Given the description of an element on the screen output the (x, y) to click on. 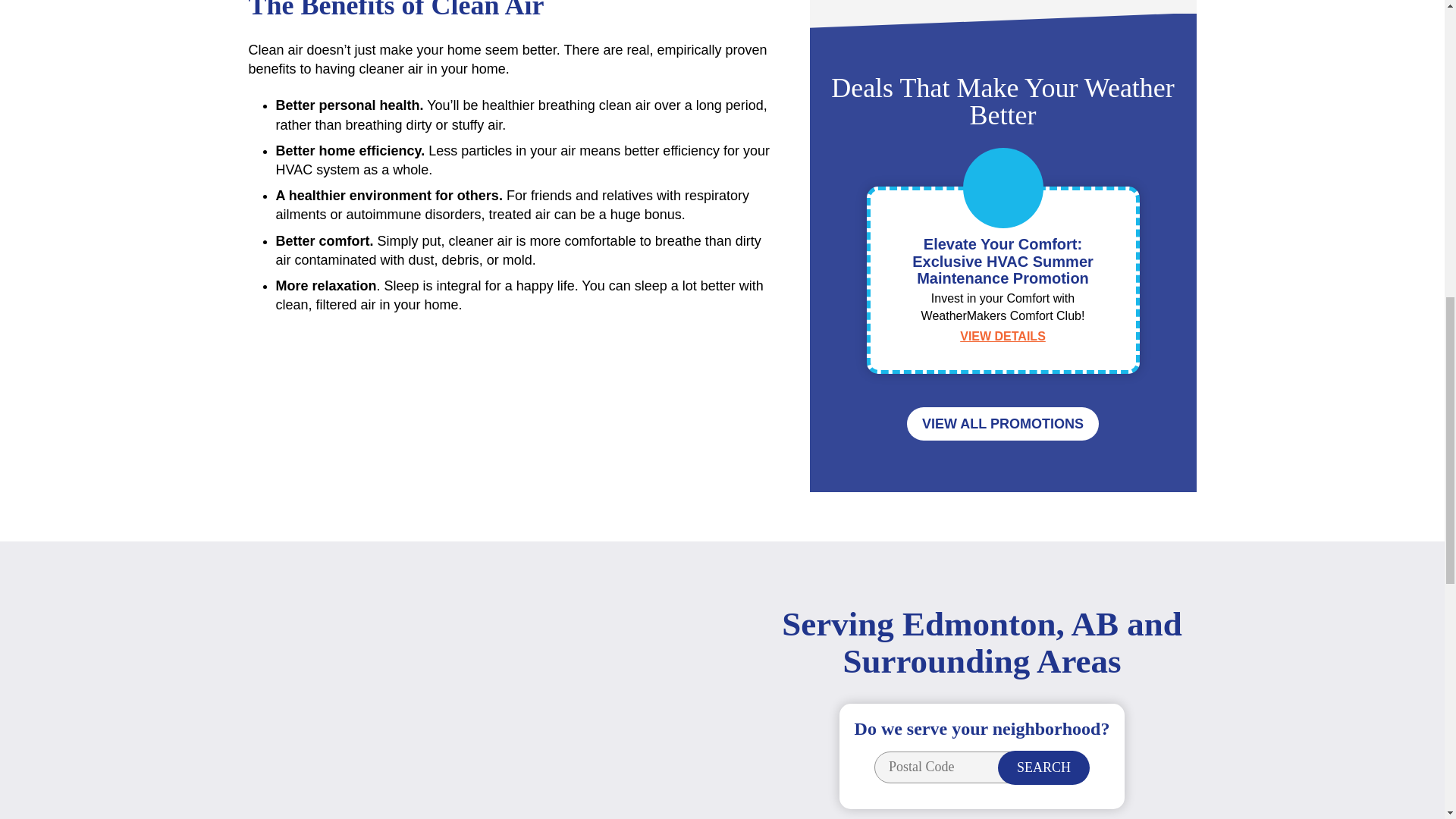
Search (1043, 767)
